Given the description of an element on the screen output the (x, y) to click on. 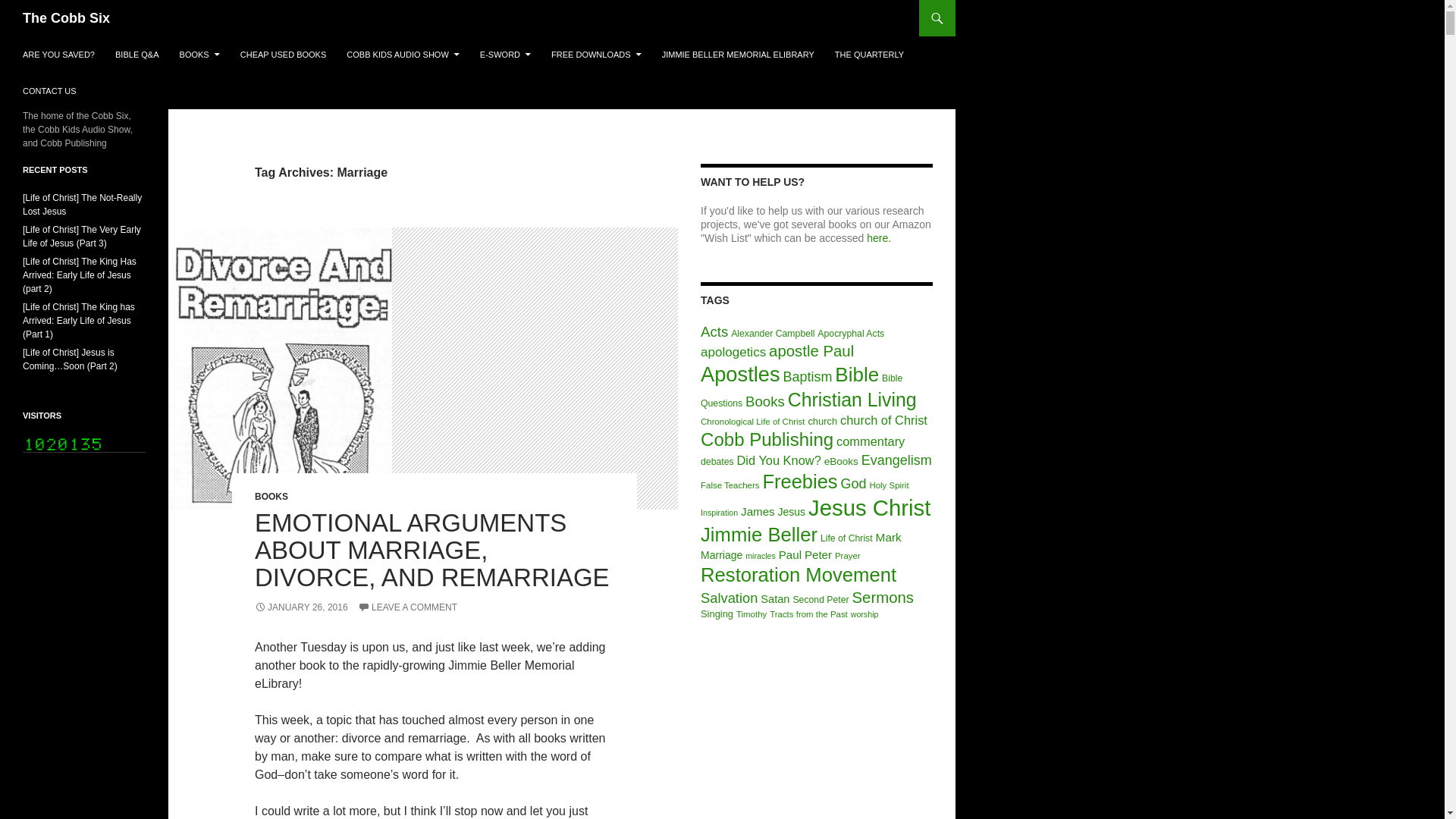
COBB KIDS AUDIO SHOW (402, 54)
CHEAP USED BOOKS (283, 54)
The Cobb Six (66, 18)
ARE YOU SAVED? (58, 54)
BOOKS (199, 54)
